Given the description of an element on the screen output the (x, y) to click on. 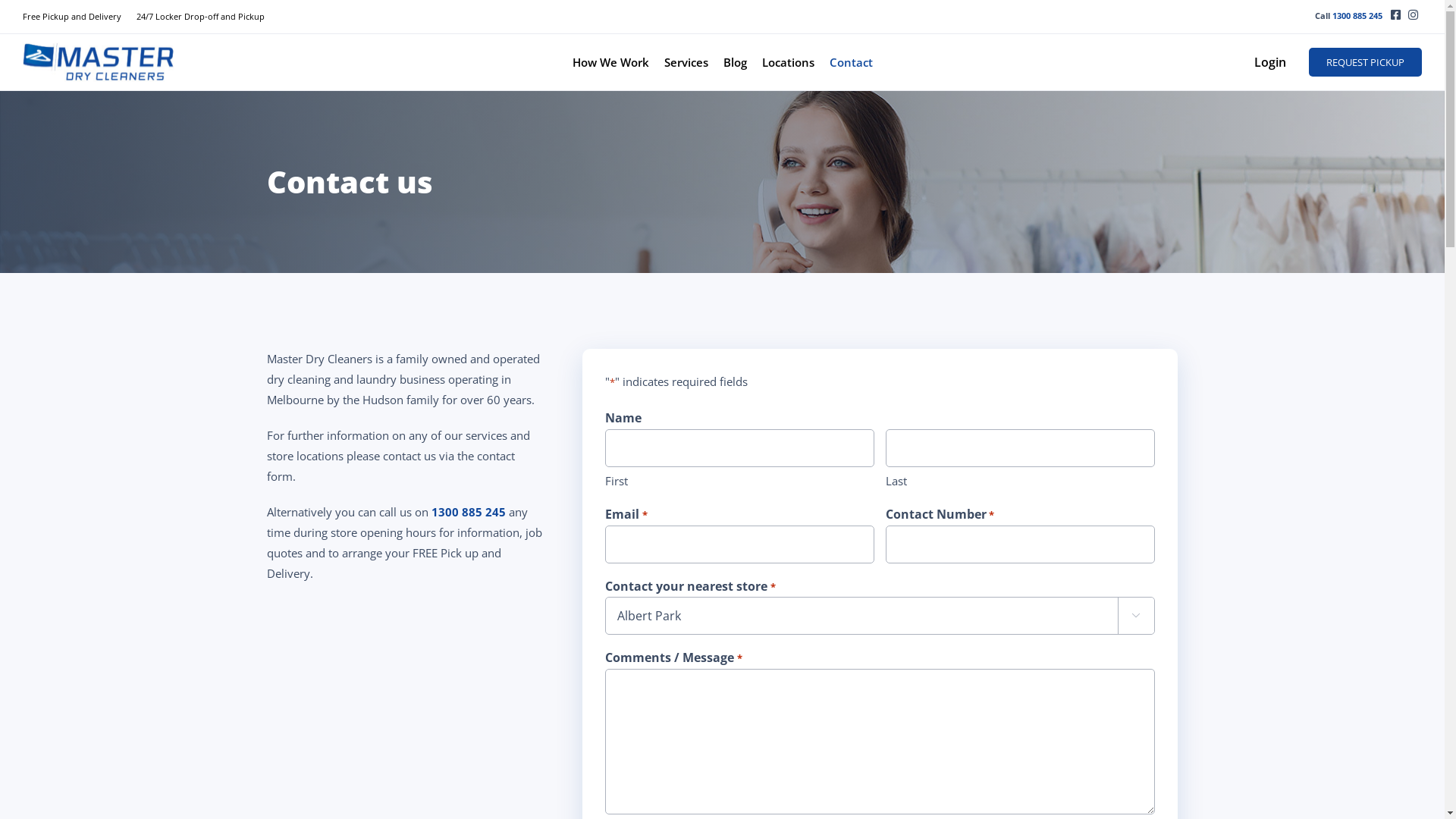
1300 885 245 Element type: text (468, 511)
24/7 Locker Drop-off and Pickup Element type: text (207, 16)
Free Pickup and Delivery Element type: text (79, 16)
How We Work Element type: text (609, 61)
Services Element type: text (685, 61)
REQUEST PICKUP Element type: text (1364, 61)
1300 885 245 Element type: text (1357, 15)
Contact Element type: text (851, 61)
Locations Element type: text (787, 61)
Login Element type: text (1281, 61)
Blog Element type: text (734, 61)
